Given the description of an element on the screen output the (x, y) to click on. 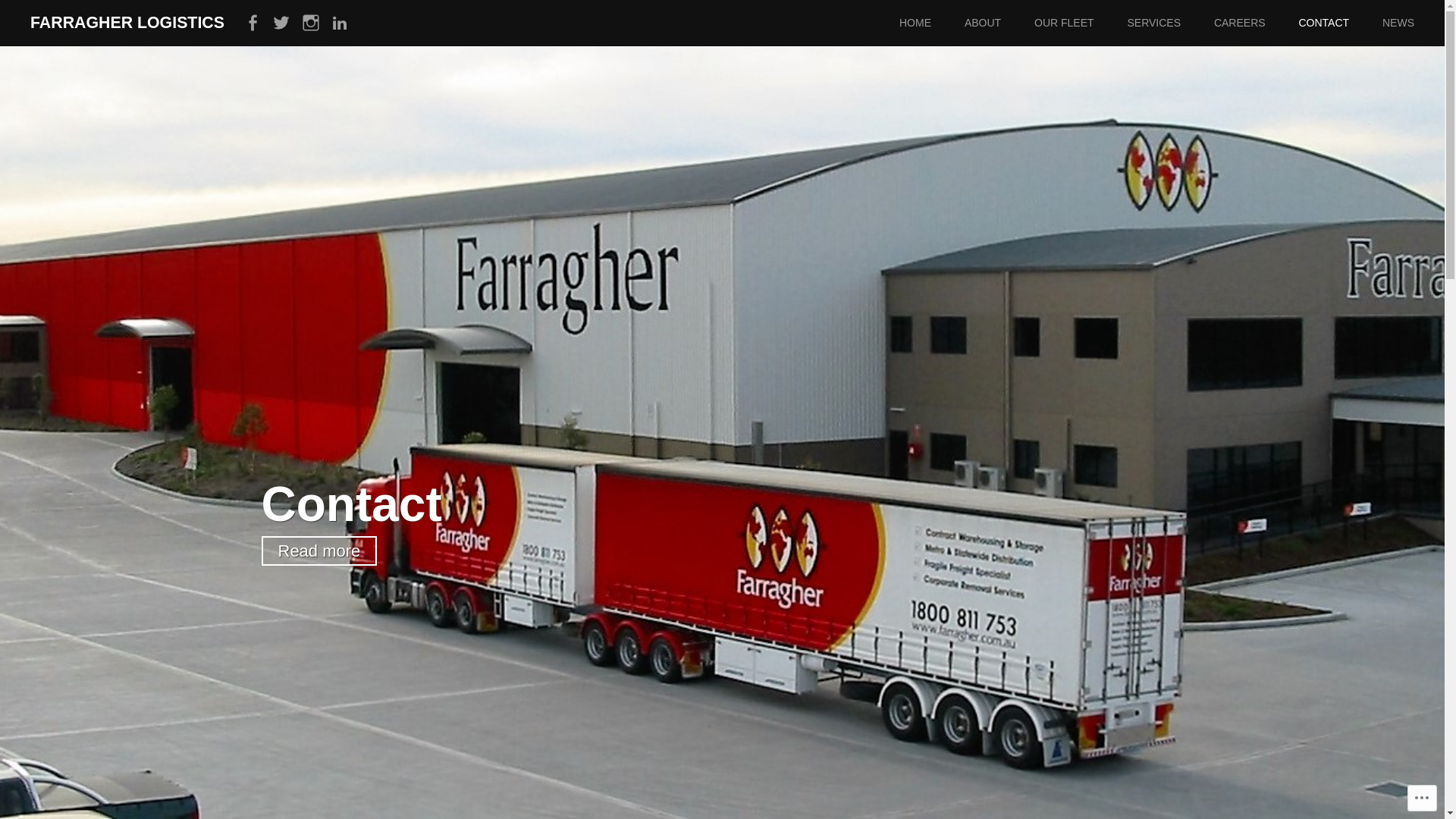
Read more Element type: text (318, 549)
HOME Element type: text (930, 23)
CONTACT Element type: text (1338, 23)
ABOUT Element type: text (997, 23)
SERVICES Element type: text (1168, 23)
FARRAGHER LOGISTICS Element type: text (127, 22)
OUR FLEET Element type: text (1079, 23)
CAREERS Element type: text (1254, 23)
Contact Element type: text (350, 503)
NEWS Element type: text (1413, 23)
